Given the description of an element on the screen output the (x, y) to click on. 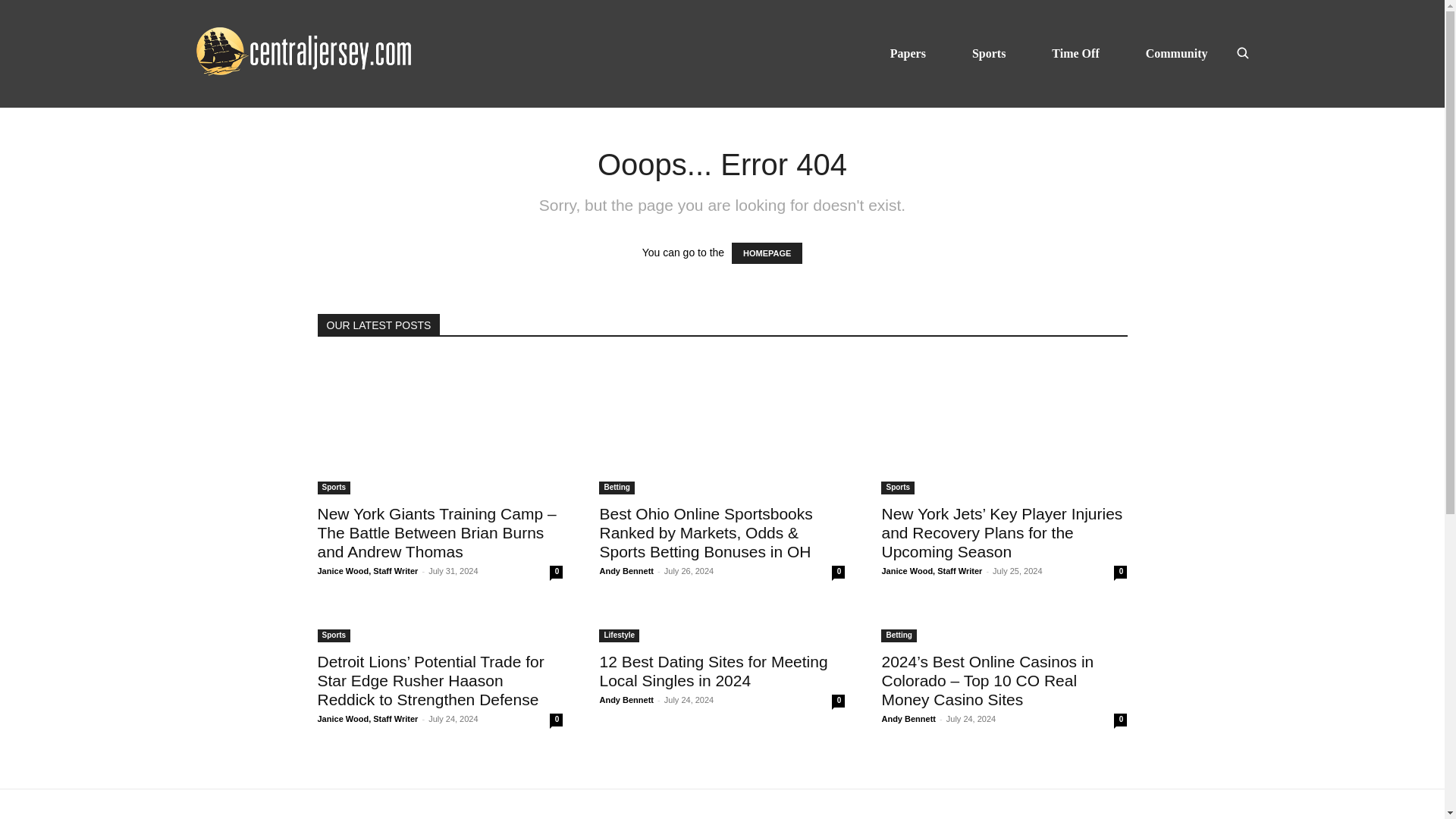
Sports (989, 52)
HOMEPAGE (767, 252)
Janice Wood, Staff Writer (367, 570)
Community (1176, 52)
Time Off (1075, 52)
Papers (907, 52)
Sports (333, 487)
0 (556, 571)
12 Best Dating Sites for Meeting Local Singles in 2024 (712, 670)
12 Best Dating Sites for Meeting Local Singles in 2024 (721, 626)
